Given the description of an element on the screen output the (x, y) to click on. 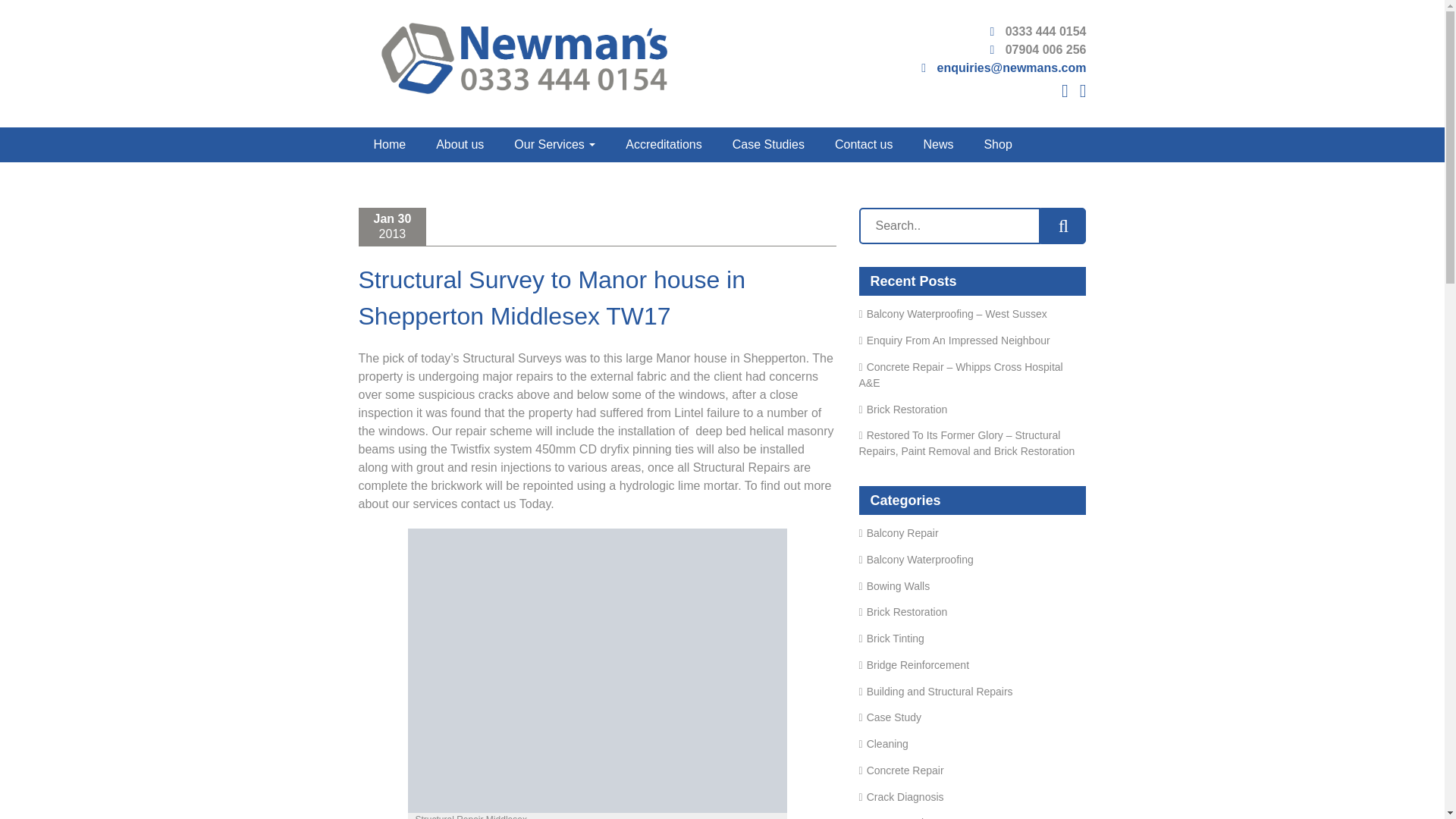
Home (389, 144)
Our Services (554, 144)
About us (459, 144)
